Given the description of an element on the screen output the (x, y) to click on. 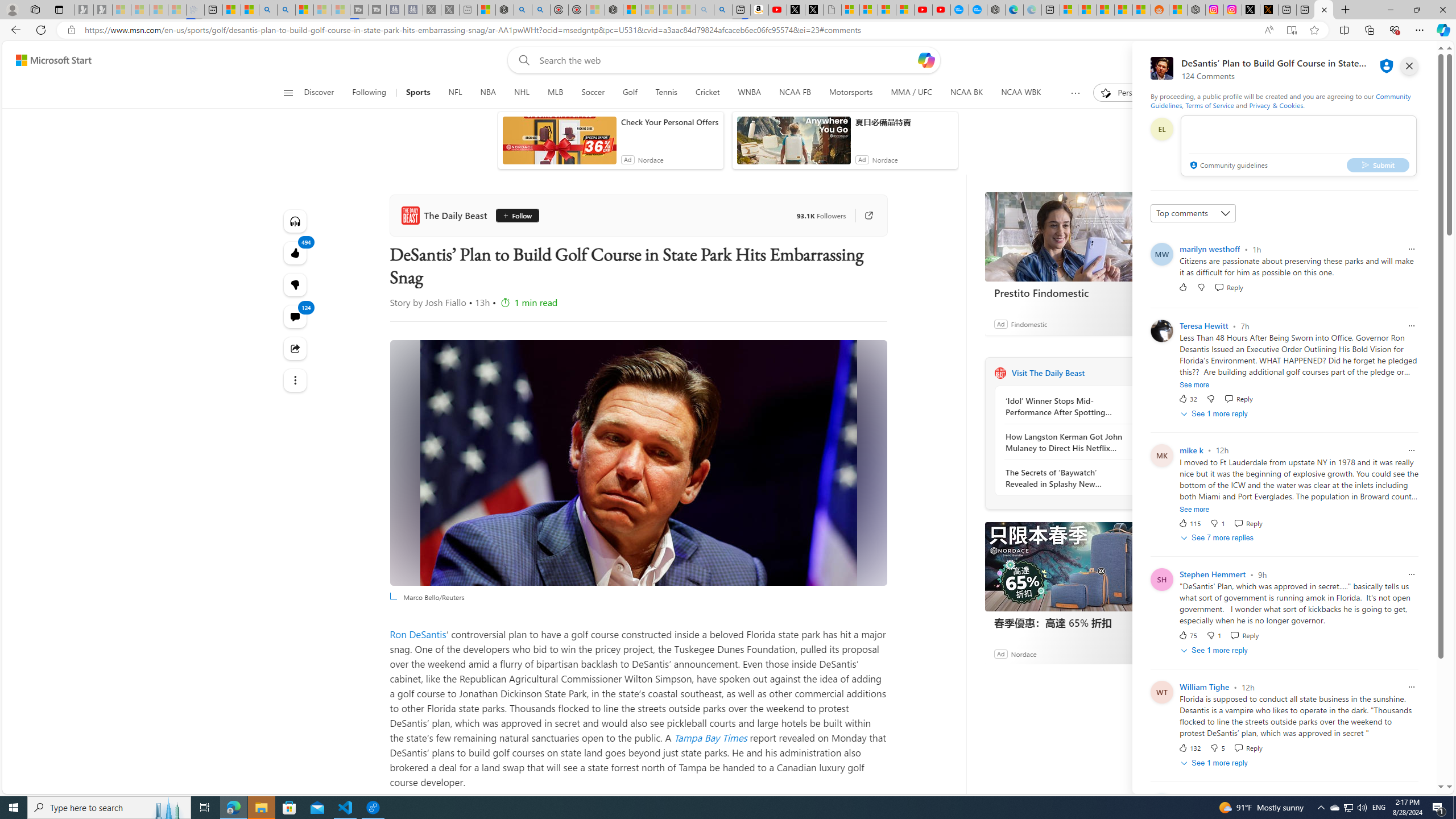
X - Sleeping (450, 9)
close (1409, 65)
Read aloud this page (Ctrl+Shift+U) (1268, 29)
comment-box (1298, 145)
Teresa Hewitt (1203, 325)
Sort comments by (1193, 212)
Nordace (1023, 653)
Nordace - Nordace has arrived Hong Kong (996, 9)
Microsoft Start (53, 60)
Golf (630, 92)
Skip to content (49, 59)
